Given the description of an element on the screen output the (x, y) to click on. 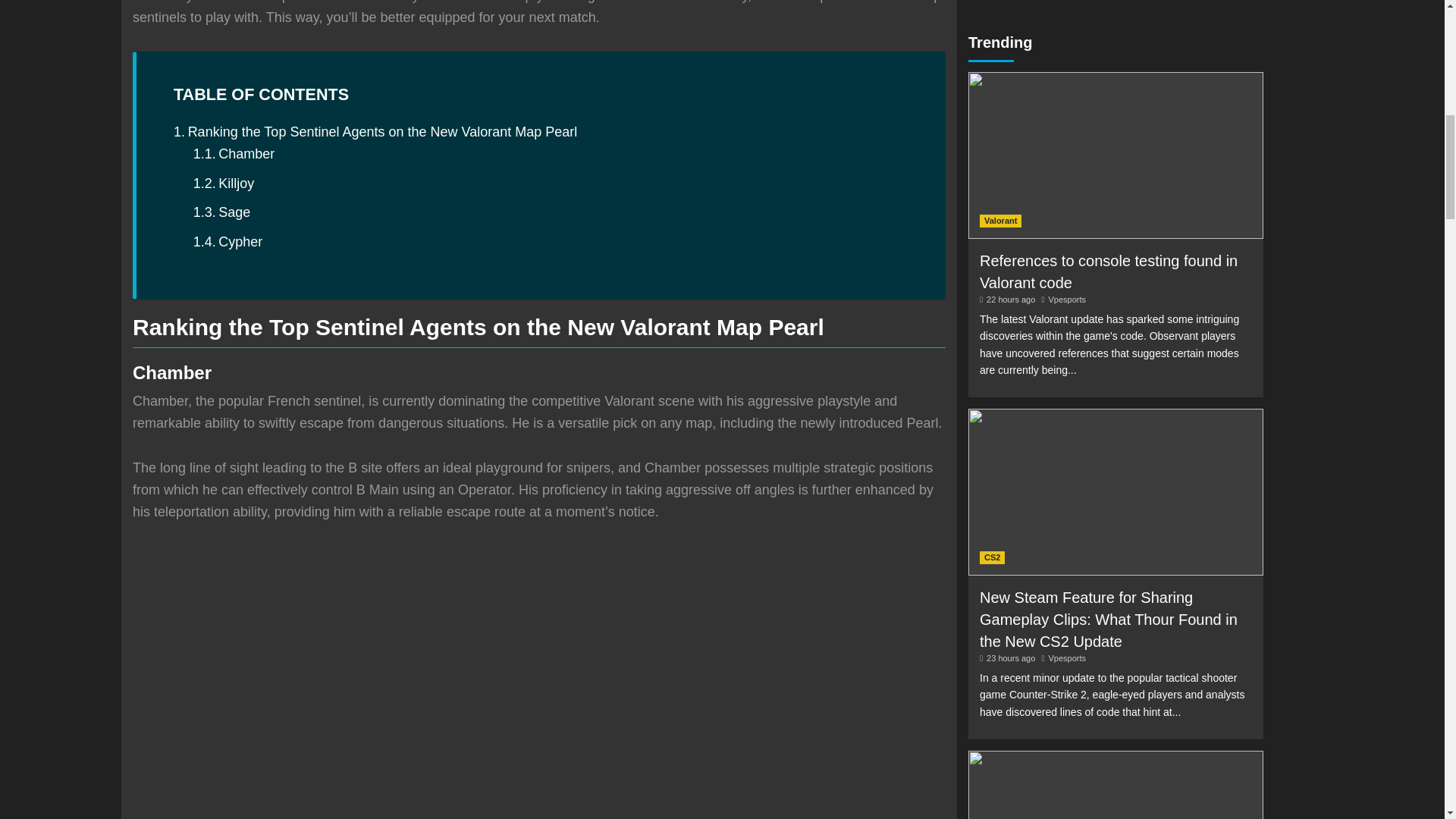
Killjoy (223, 183)
Sage (221, 212)
Cypher (228, 241)
Chamber (234, 154)
